Given the description of an element on the screen output the (x, y) to click on. 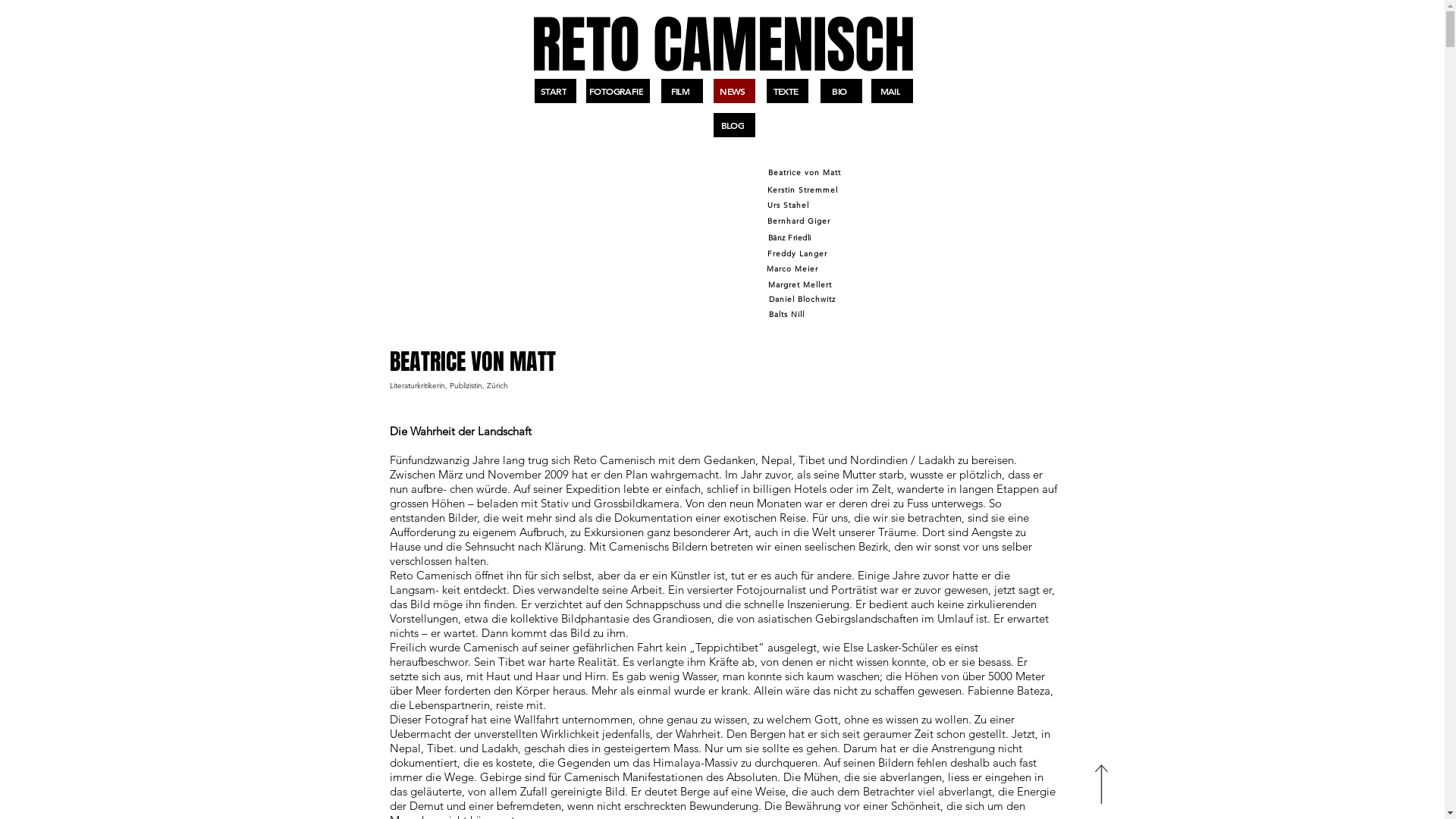
MAIL Element type: text (891, 90)
FOTOGRAFIE Element type: text (617, 90)
NEWS Element type: text (733, 90)
BLOG Element type: text (733, 124)
Bernhard Giger Element type: text (799, 220)
Beatrice von Matt Element type: text (805, 172)
START Element type: text (554, 90)
Margret Mellert Element type: text (801, 284)
Urs Stahel Element type: text (790, 204)
Daniel Blochwitz Element type: text (803, 298)
BIO Element type: text (841, 90)
TEXTE Element type: text (786, 90)
Marco Meier Element type: text (794, 268)
Kerstin Stremmel Element type: text (804, 189)
Freddy Langer Element type: text (797, 253)
FILM Element type: text (681, 90)
Balts Nill Element type: text (788, 314)
